Given the description of an element on the screen output the (x, y) to click on. 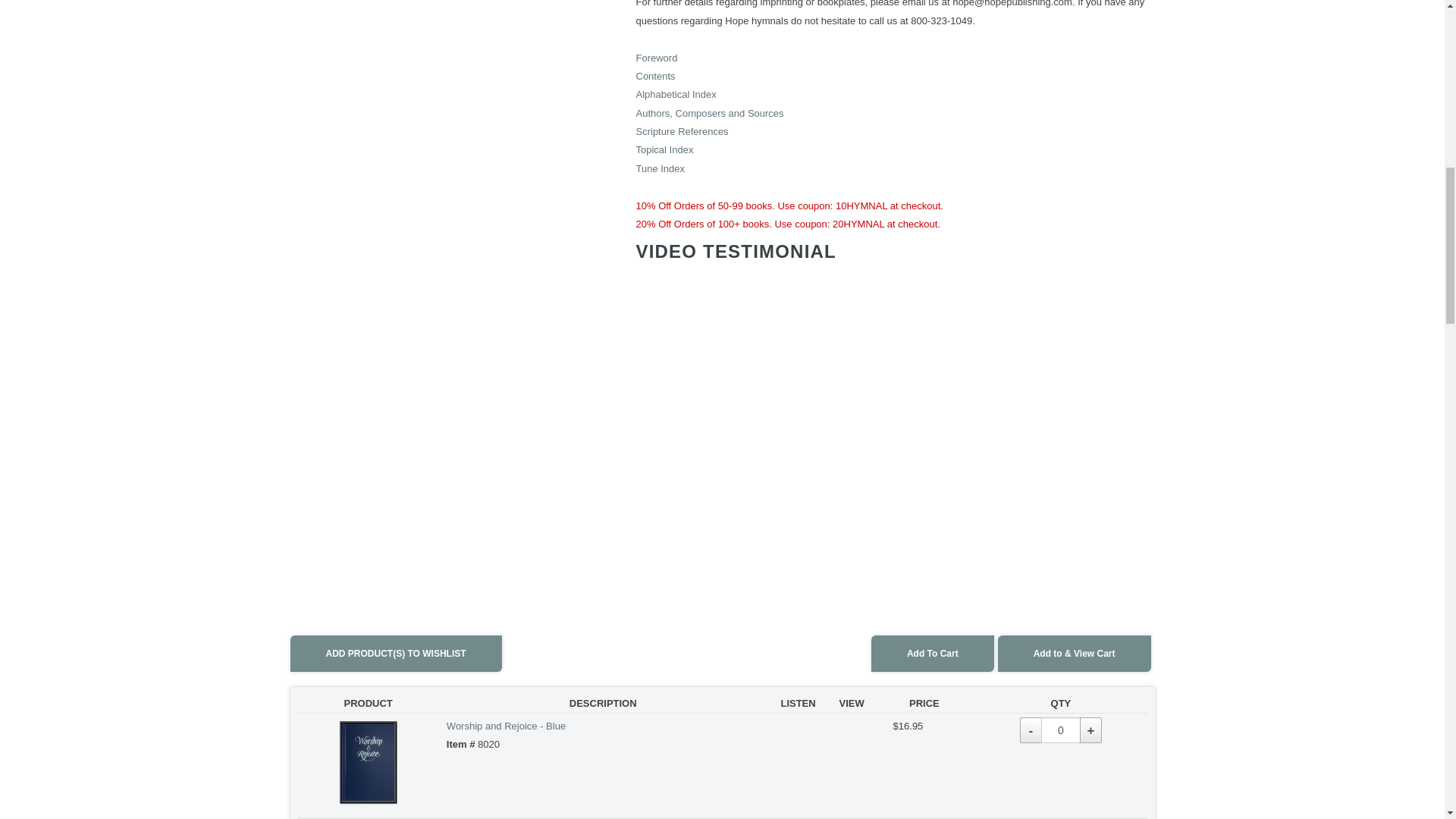
0 (1060, 729)
Add To Cart (932, 653)
